Given the description of an element on the screen output the (x, y) to click on. 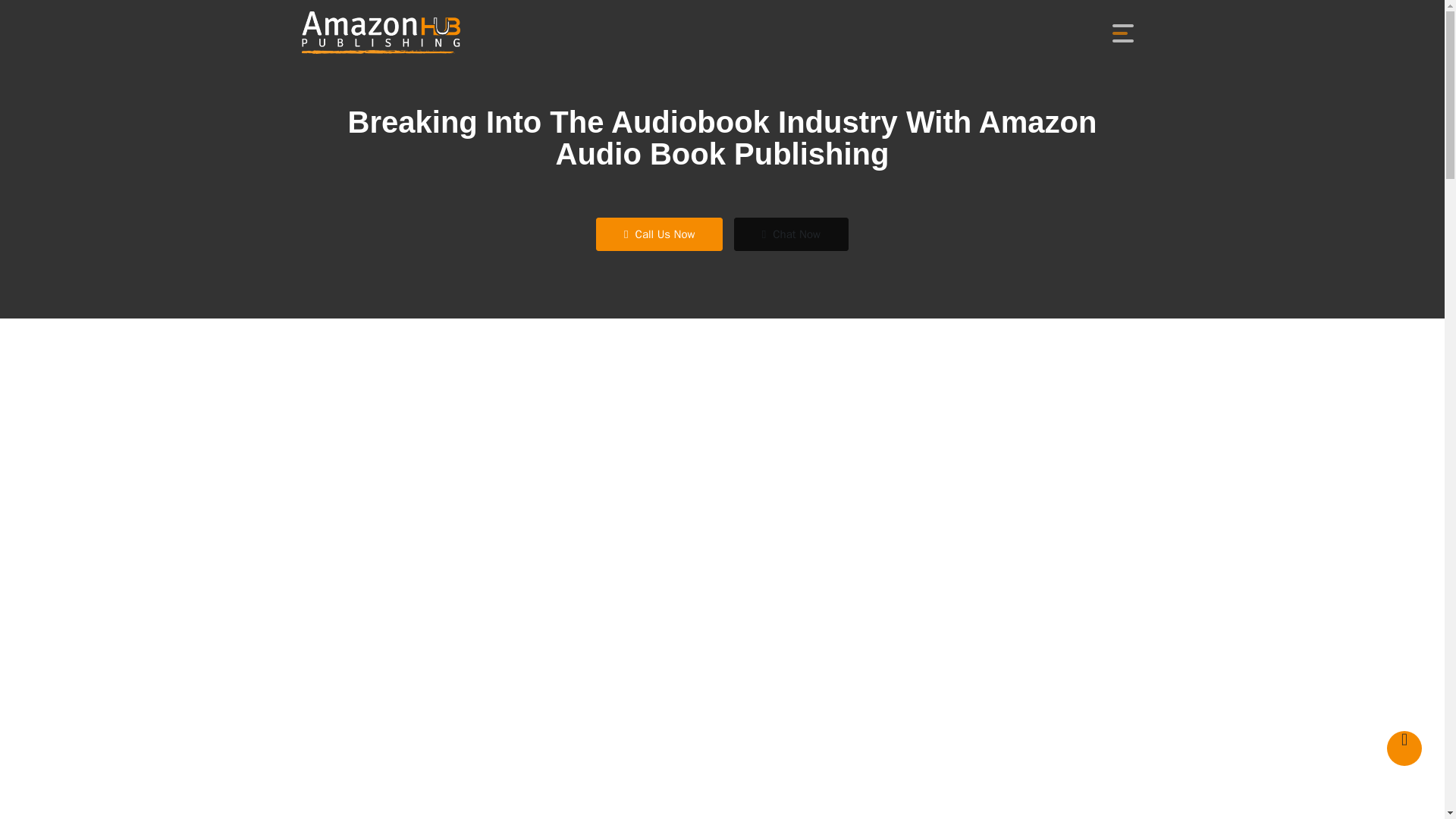
  Call Us Now (658, 233)
  Chat Now (790, 233)
